Given the description of an element on the screen output the (x, y) to click on. 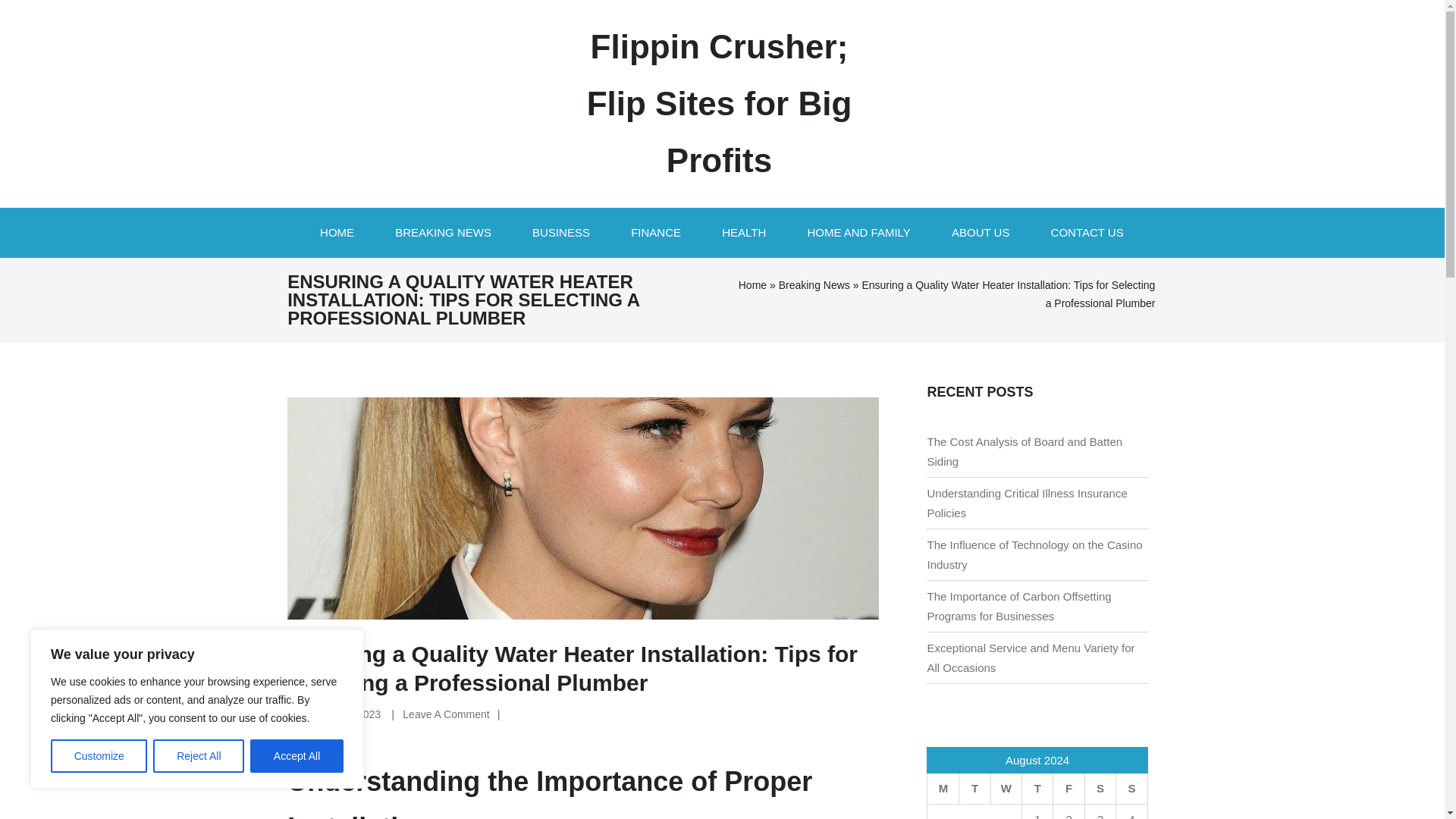
Friday (1068, 788)
BUSINESS (560, 232)
CONTACT US (1087, 232)
HOME AND FAMILY (857, 232)
Flippin Crusher; Flip Sites for Big Profits (719, 103)
Monday (942, 788)
Thursday (1037, 788)
BREAKING NEWS (443, 232)
Sunday (1131, 788)
HEALTH (743, 232)
HOME (336, 232)
ABOUT US (980, 232)
Understanding Critical Illness Insurance Policies (1026, 502)
The Cost Analysis of Board and Batten Siding (1024, 450)
Tuesday (974, 788)
